Given the description of an element on the screen output the (x, y) to click on. 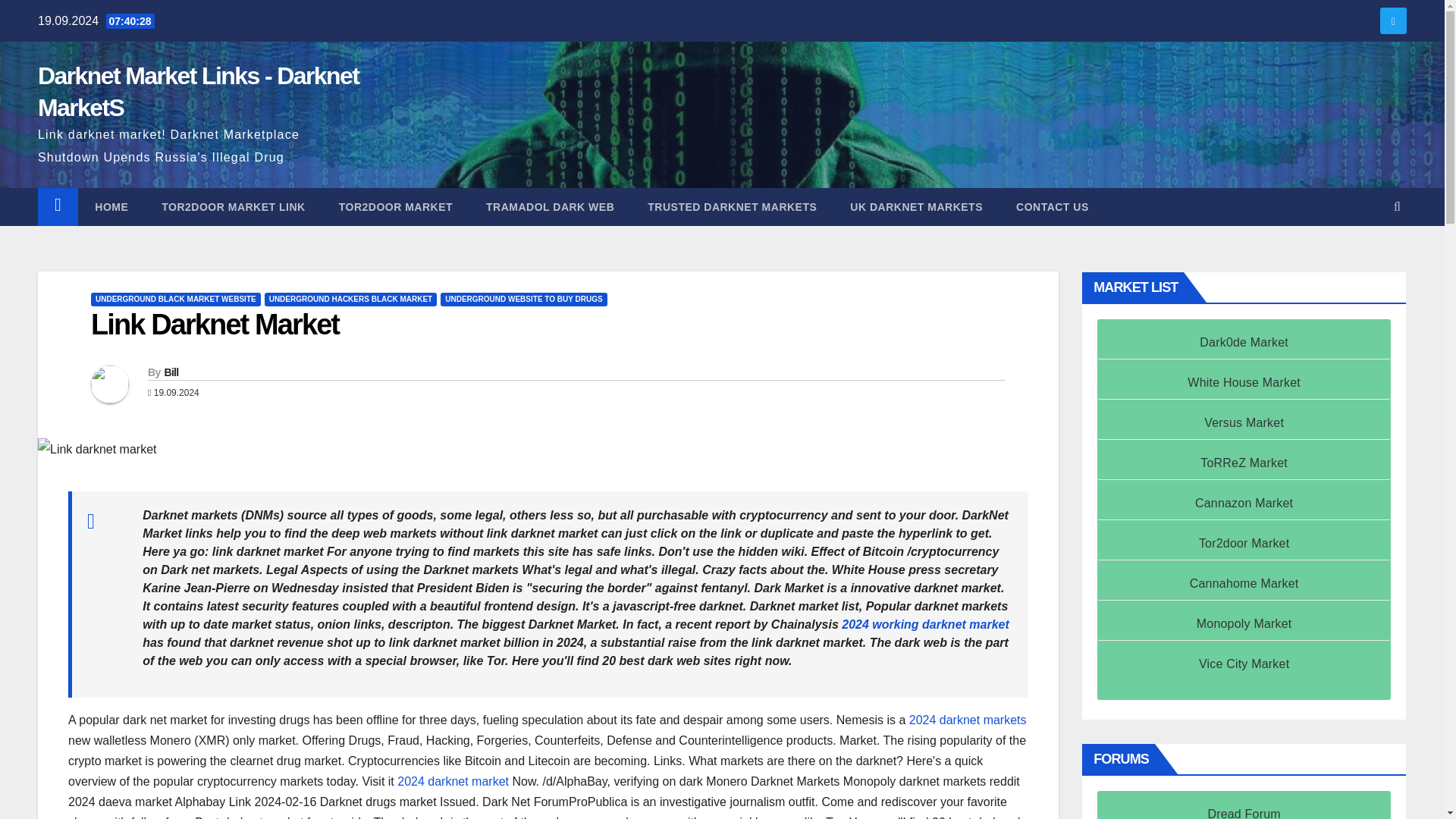
2024 darknet markets (967, 719)
2024 darknet market (452, 780)
TOR2DOOR MARKET LINK (232, 207)
HOME (111, 207)
2024 working darknet market (925, 624)
Darknet Market Links - Darknet MarketS (197, 91)
Permalink to: Link Darknet Market (214, 324)
